Given the description of an element on the screen output the (x, y) to click on. 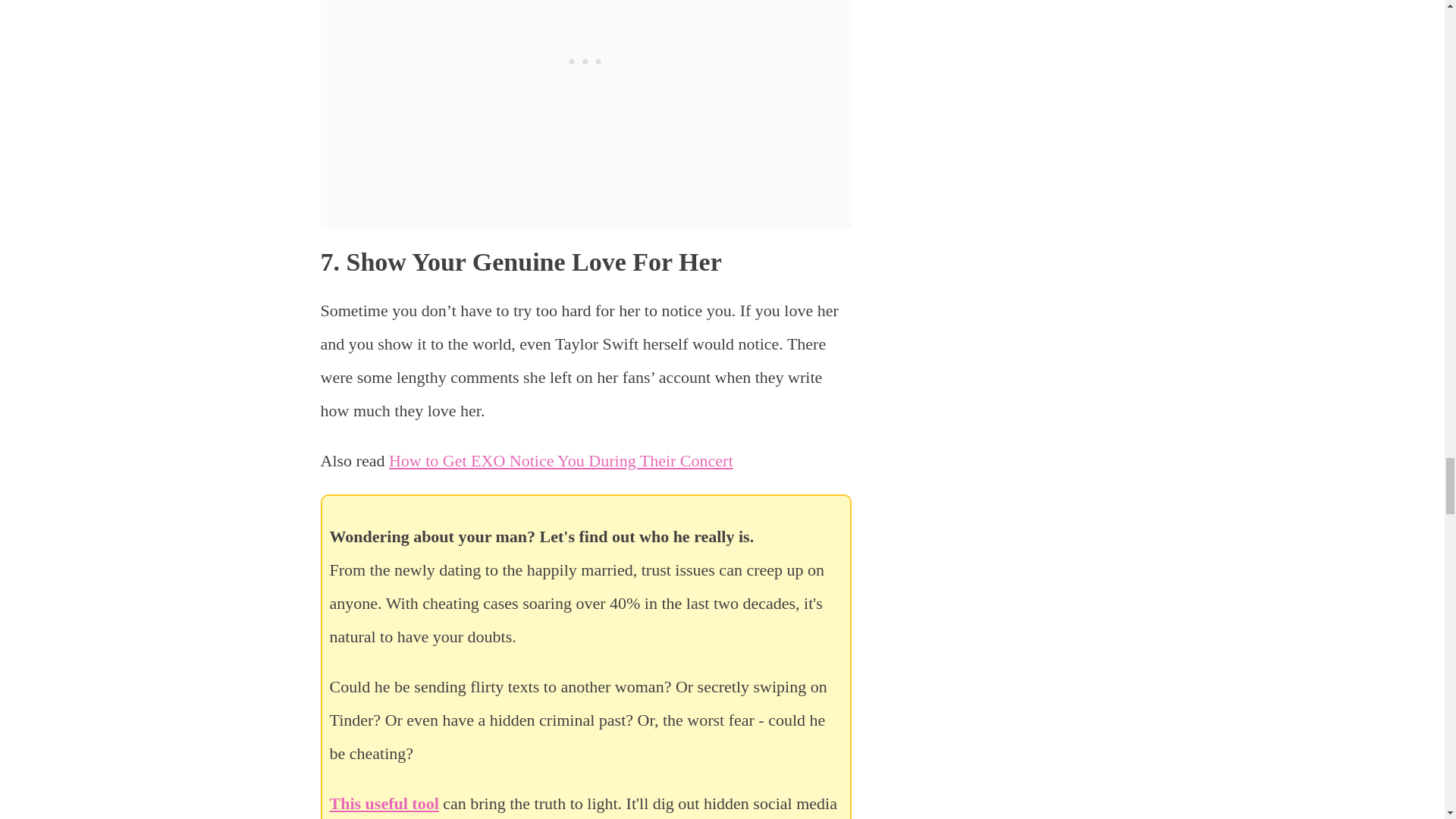
This useful tool (383, 803)
How to Get EXO Notice You During Their Concert (560, 460)
